Given the description of an element on the screen output the (x, y) to click on. 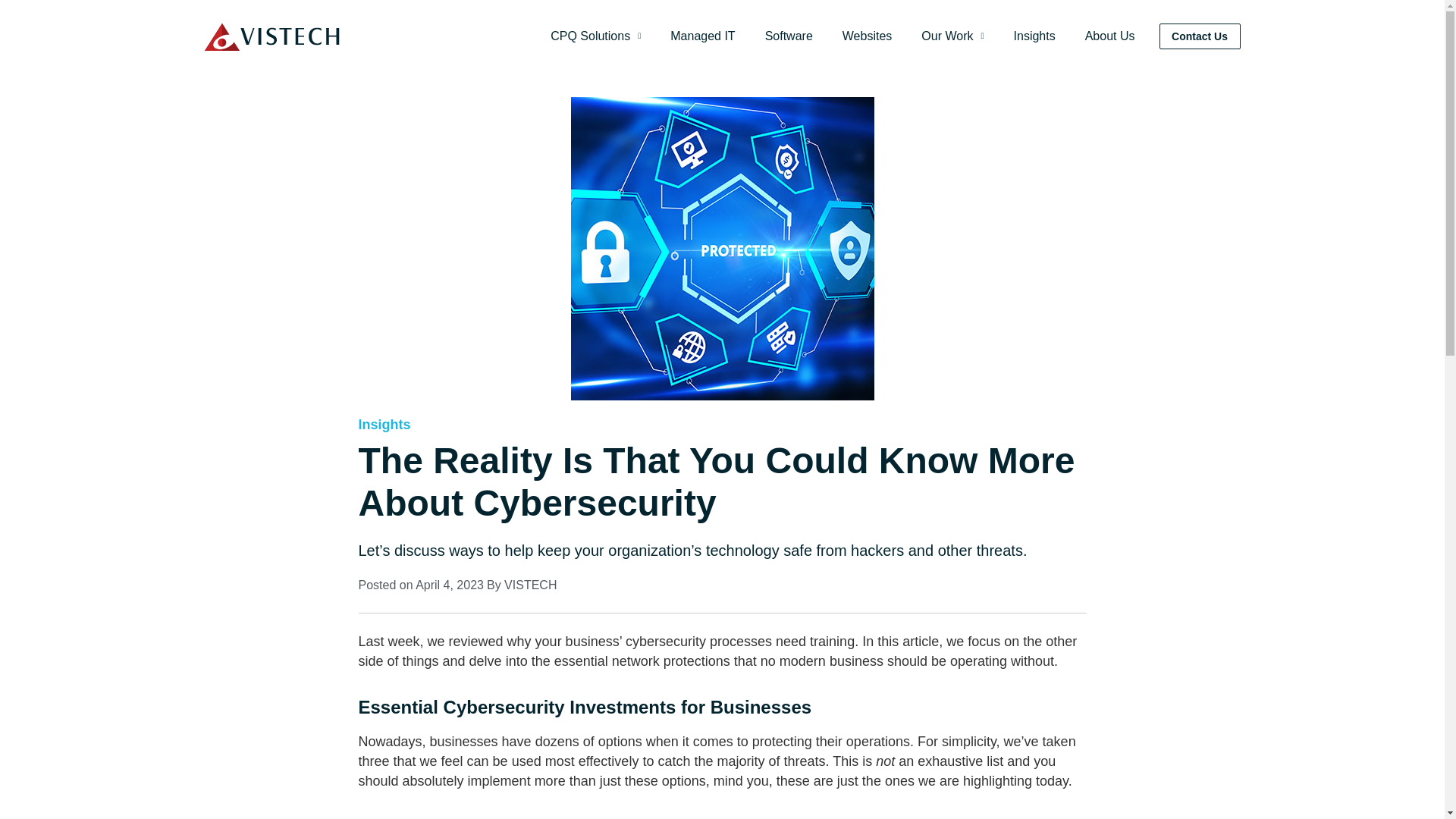
About Us (1109, 36)
Software (788, 36)
Insights (1034, 36)
CPQ Solutions (595, 36)
Websites (867, 36)
Contact Us (1199, 36)
Our Work (952, 36)
Managed IT (702, 36)
